Given the description of an element on the screen output the (x, y) to click on. 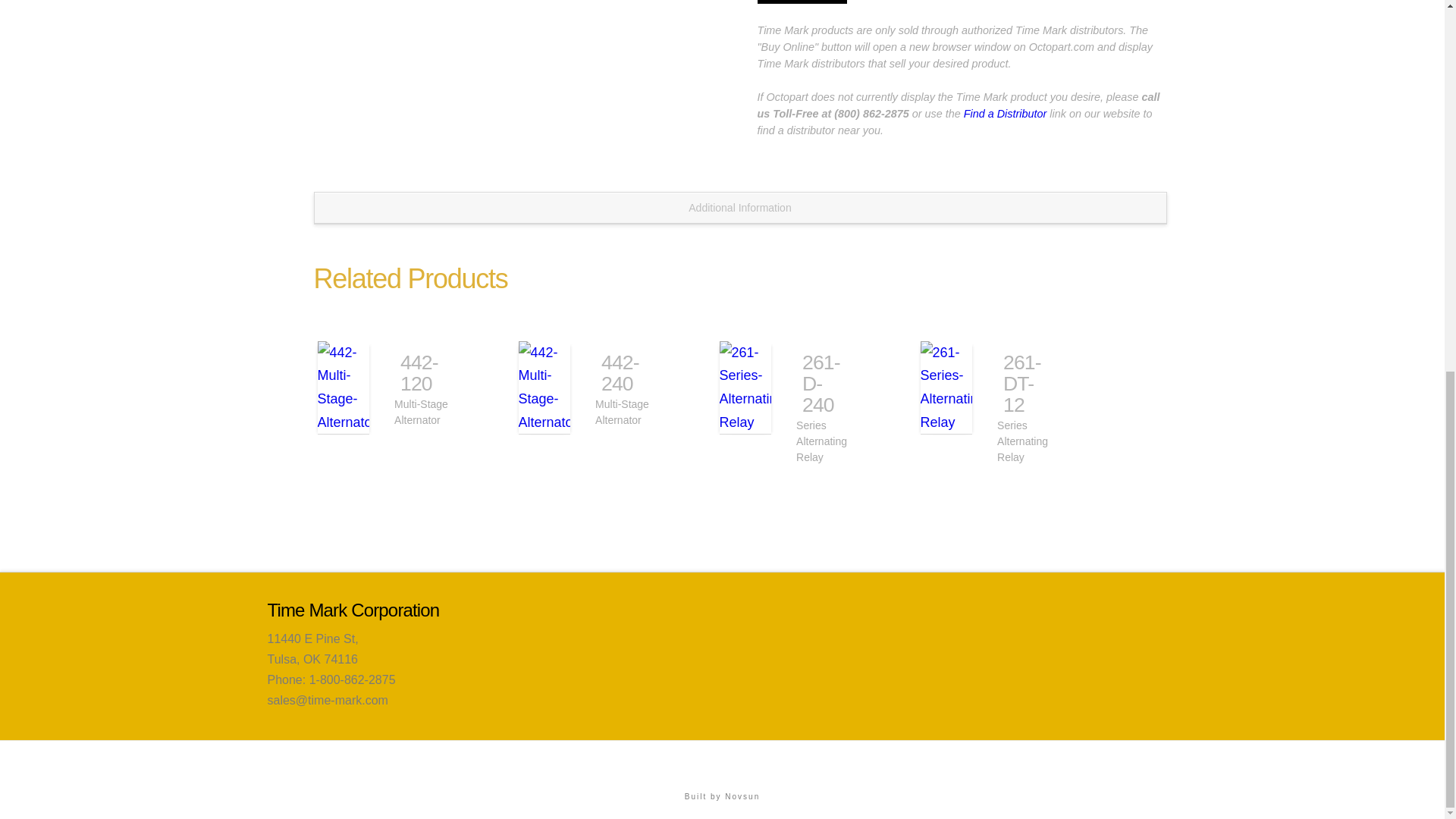
Contact Us (945, 762)
